Given the description of an element on the screen output the (x, y) to click on. 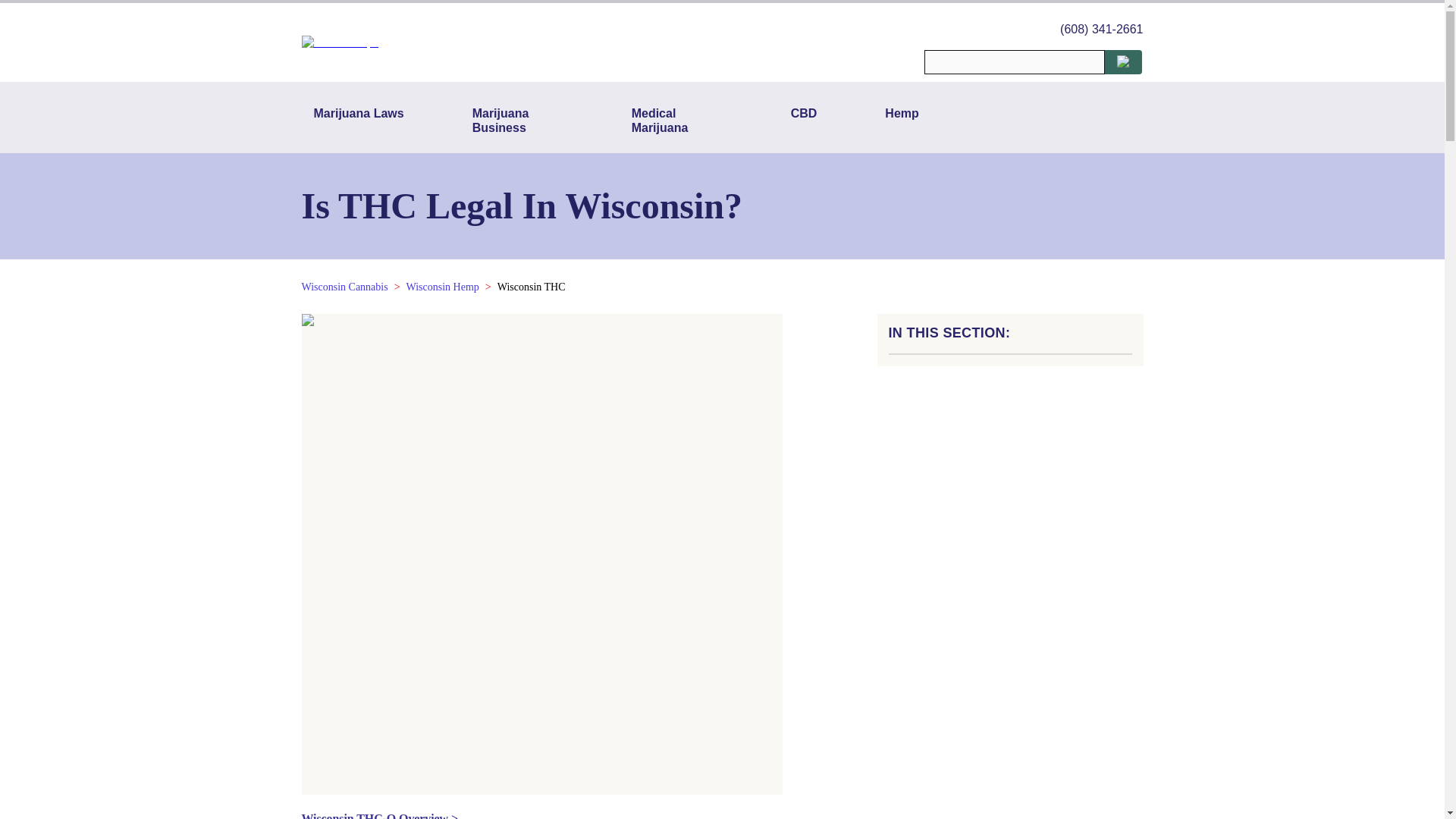
Marijuana Laws (358, 119)
Wisconsin Cannabis (344, 286)
Wisconsin Hemp (442, 286)
CBD (803, 119)
Medical Marijuana (677, 119)
Hemp (901, 119)
Marijuana Business (517, 119)
